Given the description of an element on the screen output the (x, y) to click on. 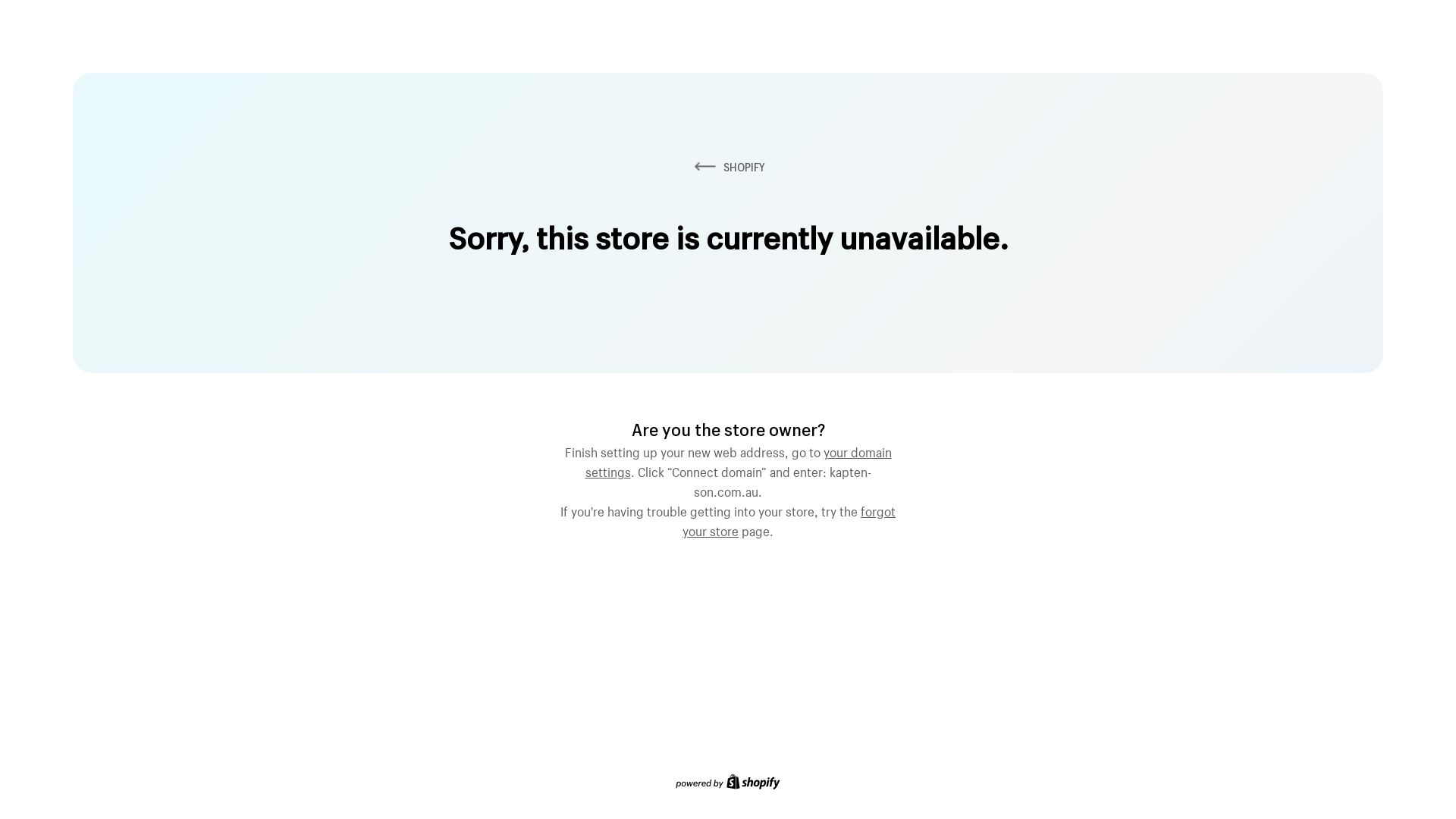
forgot your store Element type: text (788, 519)
SHOPIFY Element type: text (727, 167)
your domain settings Element type: text (738, 460)
